Given the description of an element on the screen output the (x, y) to click on. 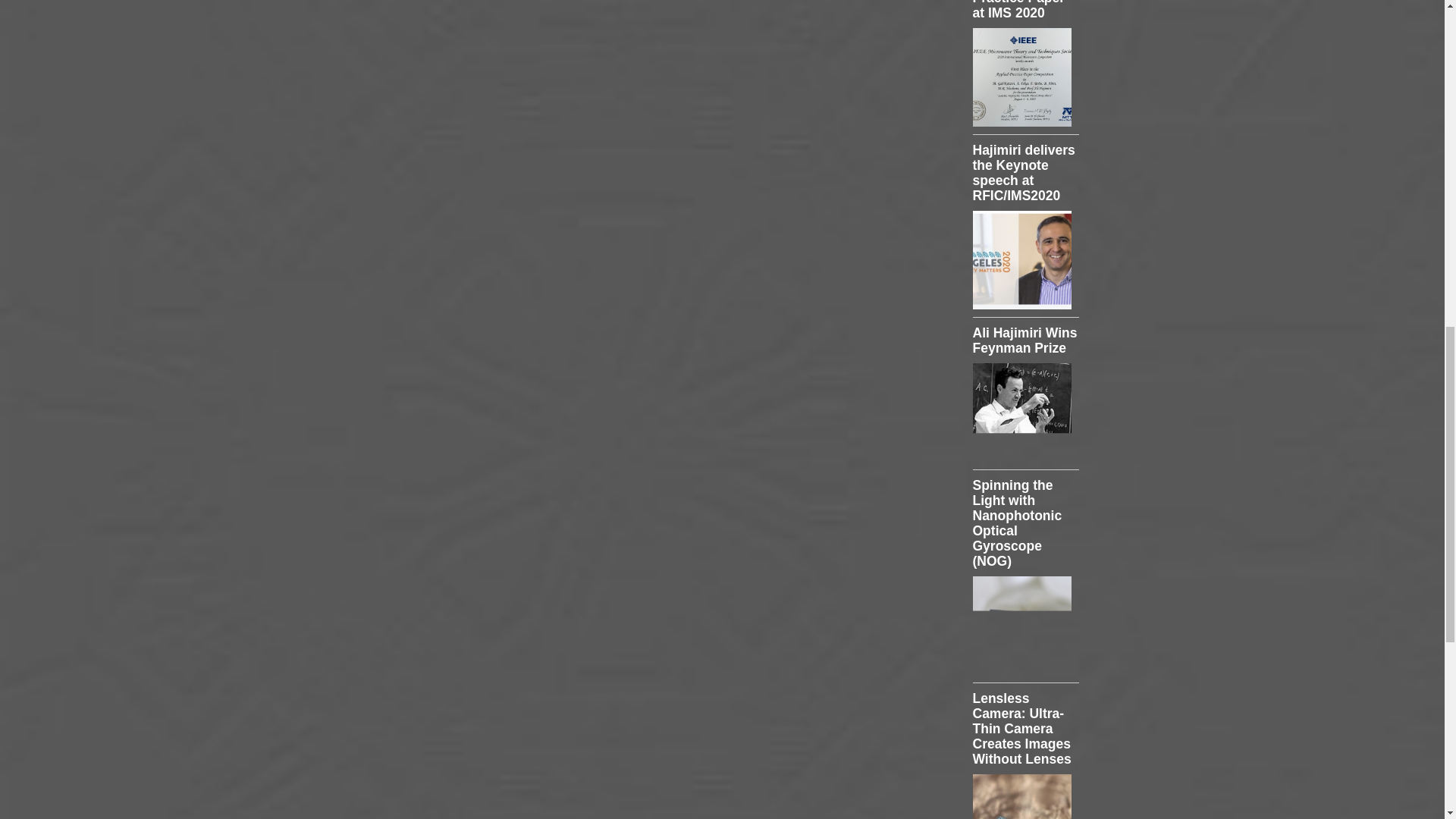
CHIC Team Wins the Best Advanced Practice Paper at IMS 2020 (1024, 10)
Ali Hajimiri Wins Feynman Prize (1021, 412)
Ali Hajimiri Wins Feynman Prize (1024, 340)
CHIC Team Wins the Best Advanced Practice Paper at IMS 2020 (1024, 10)
Ali Hajimiri Wins Feynman Prize (1024, 340)
CHIC Team Wins the Best Advanced Practice Paper at IMS 2020 (1021, 76)
